Given the description of an element on the screen output the (x, y) to click on. 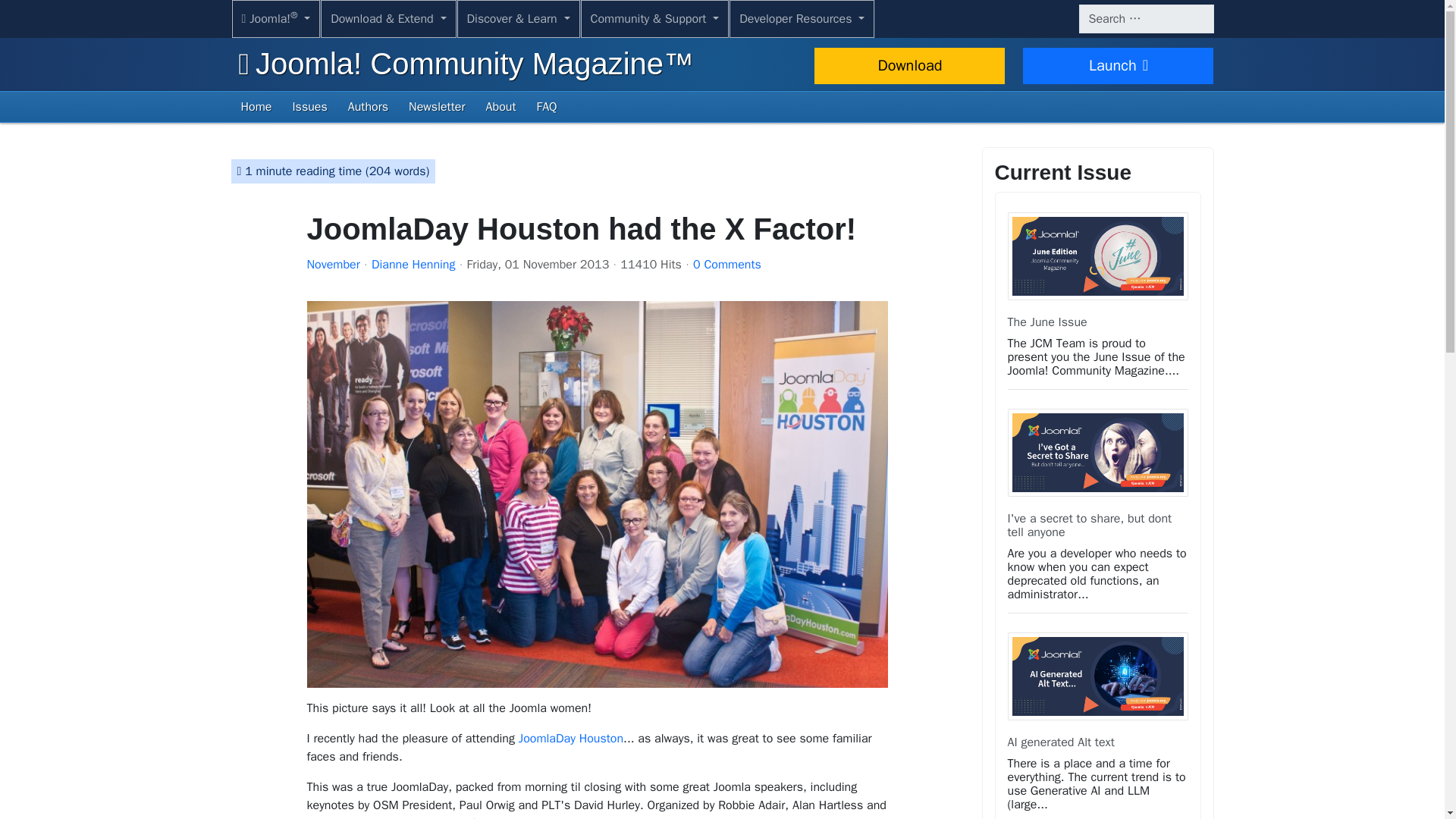
AI generated Alt text (1060, 742)
2024---JCM-secret (1097, 452)
2024---JCM-ai-alt (1097, 676)
The June Issue (1046, 322)
2024---JCM-June-edition (1097, 256)
Developer Resources (802, 18)
I've a secret to share, but dont tell anyone (1089, 525)
